Given the description of an element on the screen output the (x, y) to click on. 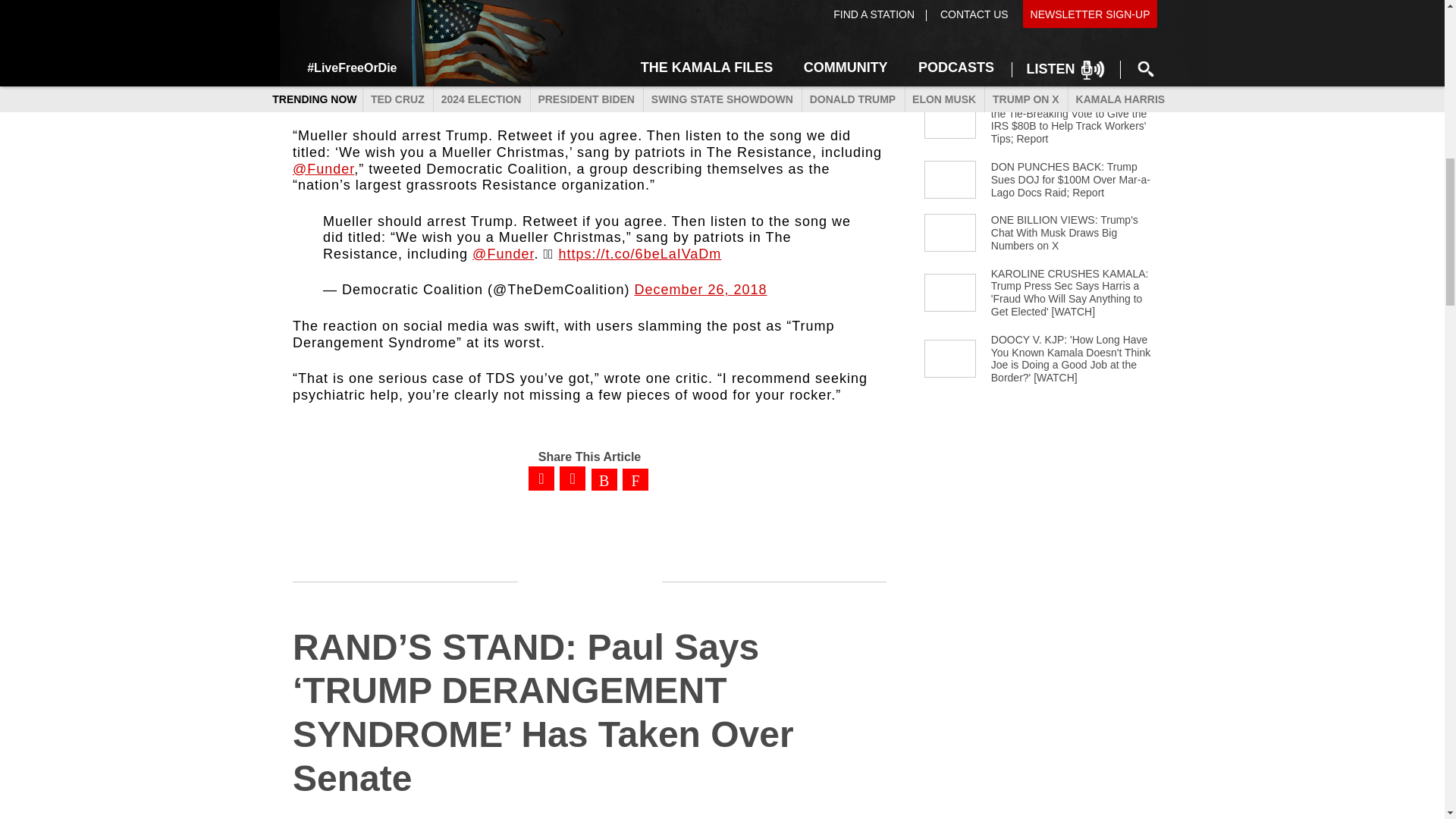
Share on Facebook (541, 478)
Share on Twitter (572, 478)
Share on Gettr (604, 480)
December 26, 2018 (700, 289)
Share on Truth Social (635, 480)
